Given the description of an element on the screen output the (x, y) to click on. 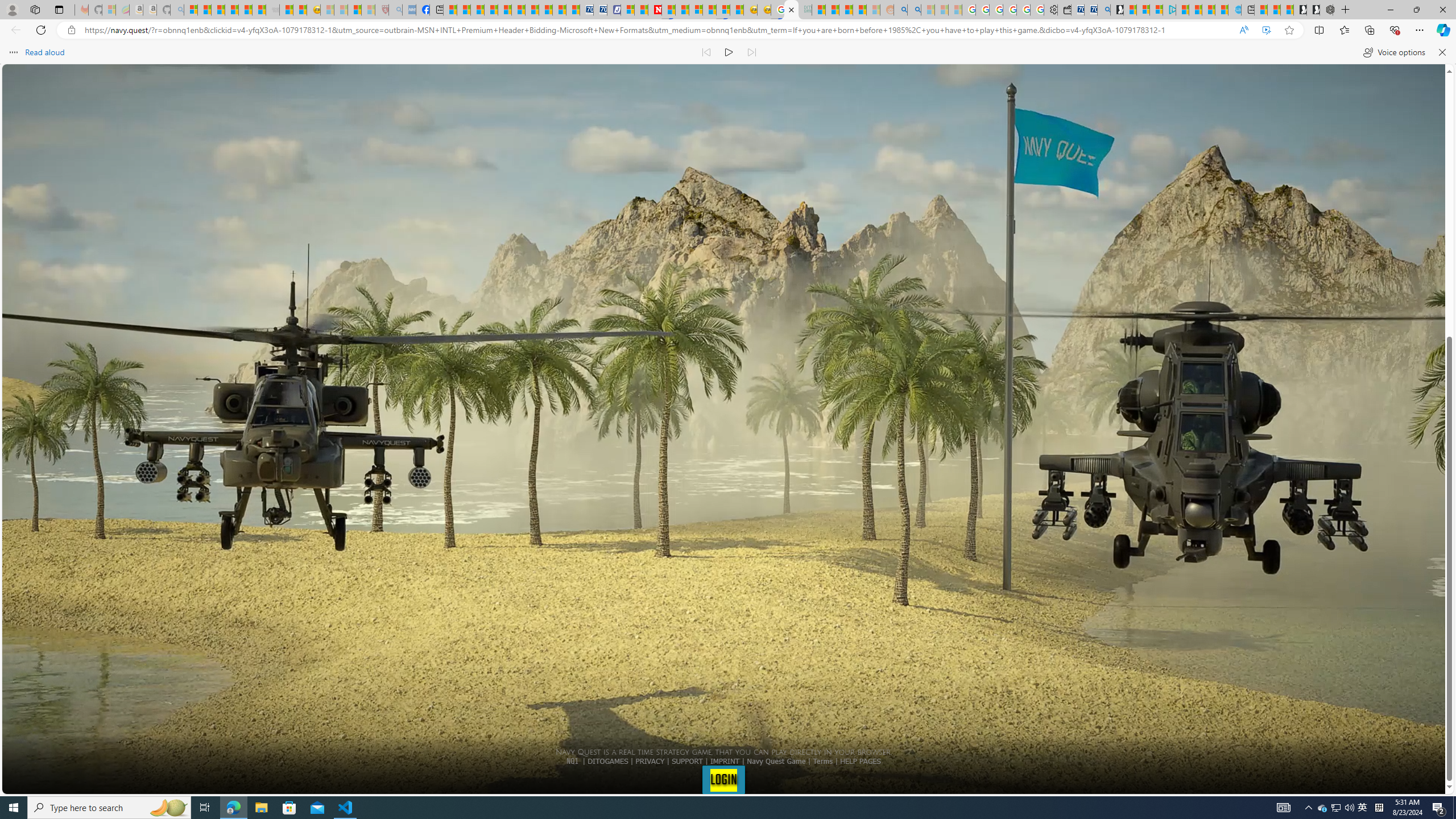
DITOGAMES AG Imprint - Sleeping (804, 9)
Cheap Hotels - Save70.com (599, 9)
LOGIN (723, 778)
Enhance video (1266, 29)
Cheap Car Rentals - Save70.com (1090, 9)
Wallet (1063, 9)
14 Common Myths Debunked By Scientific Facts (682, 9)
